Given the description of an element on the screen output the (x, y) to click on. 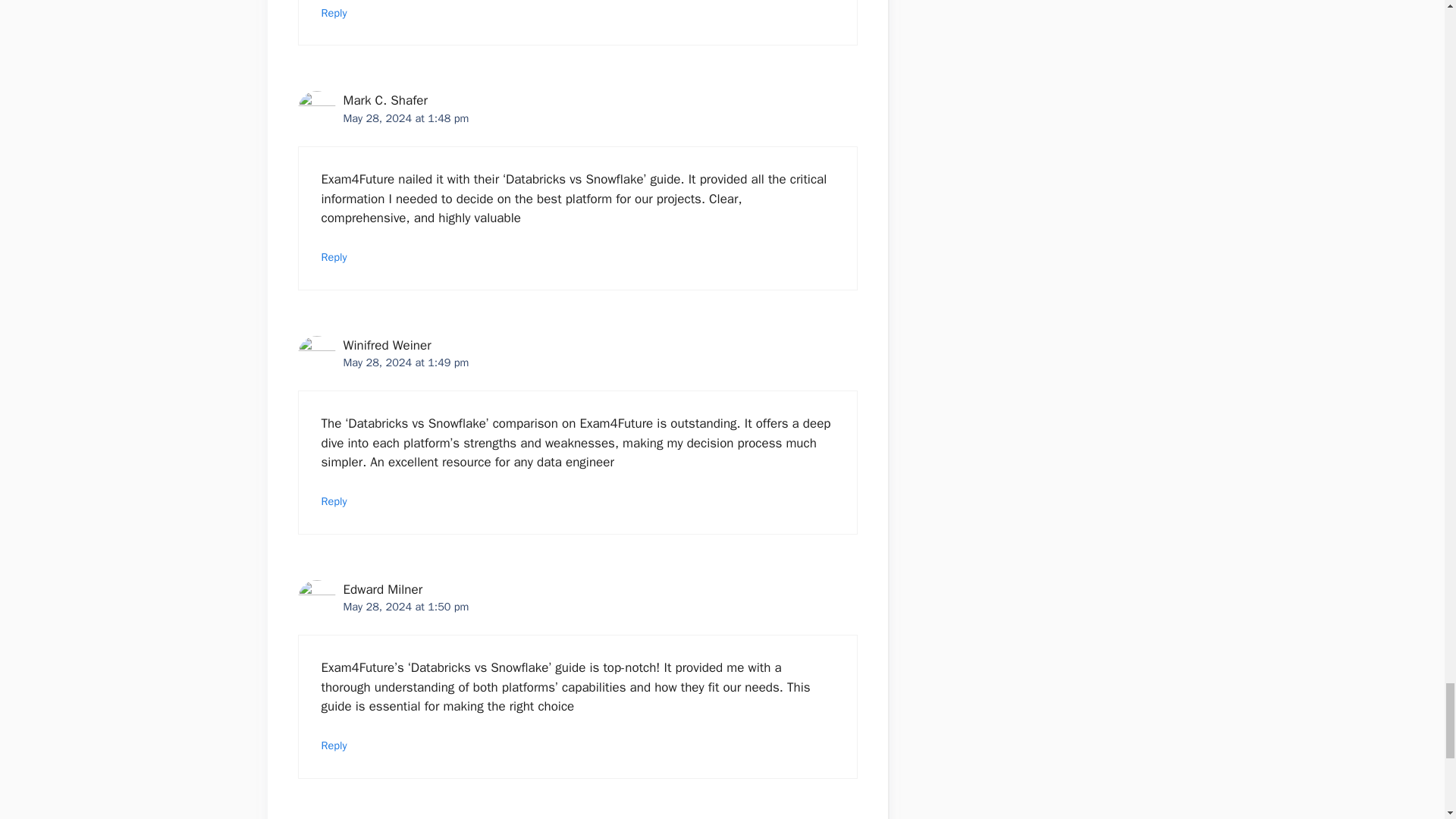
Reply (334, 745)
May 28, 2024 at 1:48 pm (405, 118)
Reply (334, 12)
May 28, 2024 at 1:49 pm (405, 362)
Reply (334, 256)
May 28, 2024 at 1:50 pm (405, 606)
Reply (334, 500)
